Given the description of an element on the screen output the (x, y) to click on. 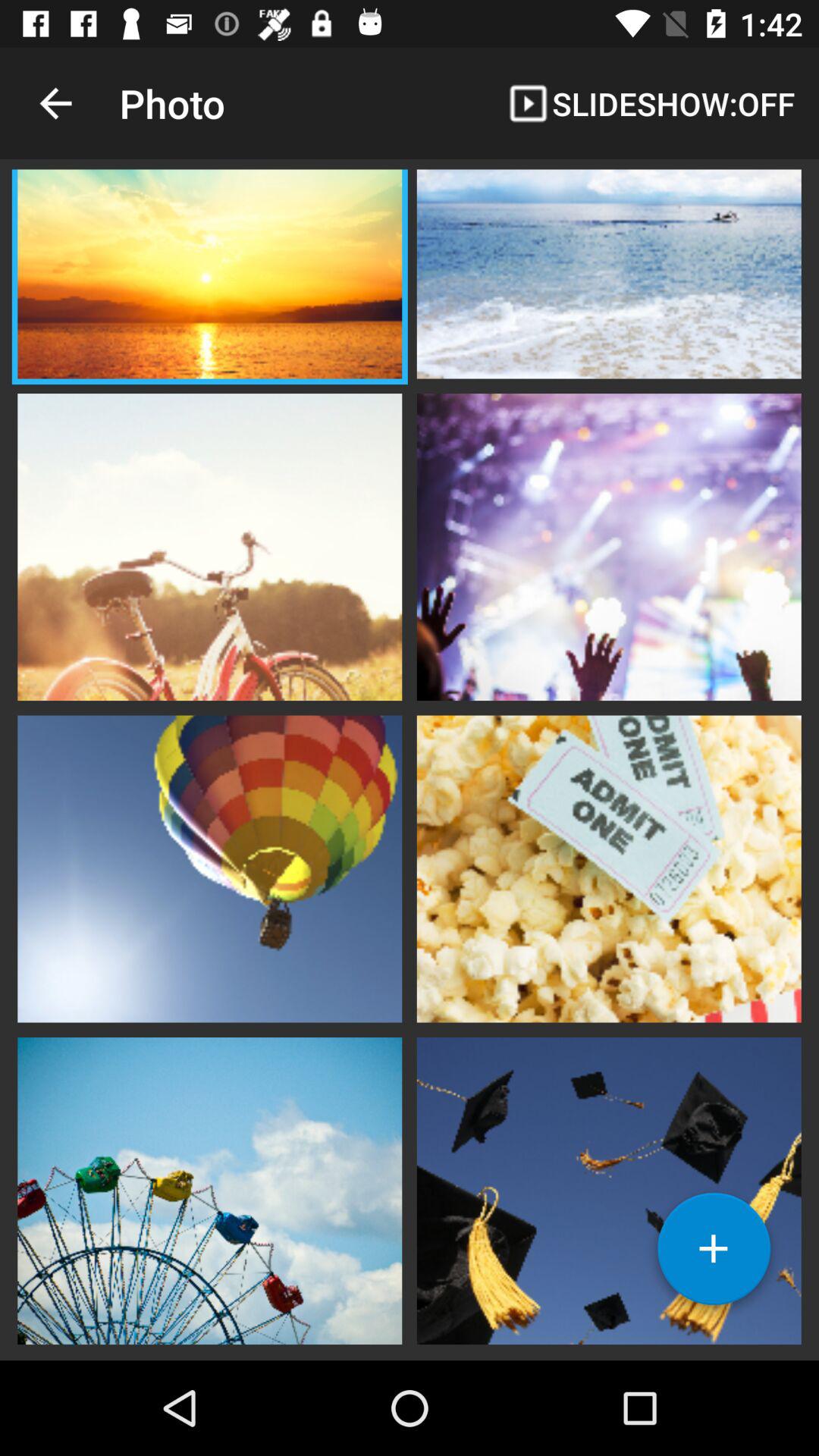
open image (209, 1189)
